Given the description of an element on the screen output the (x, y) to click on. 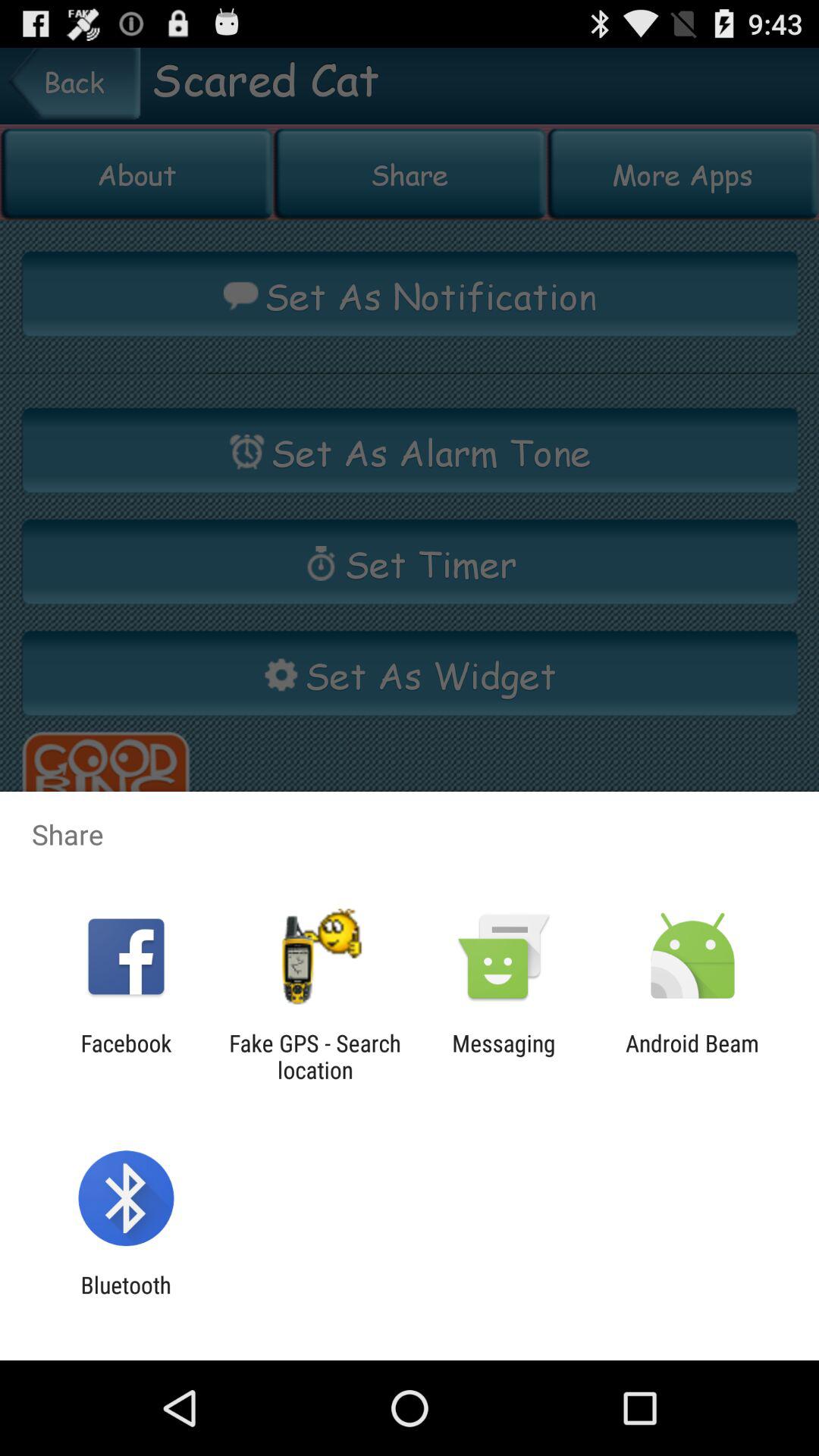
press the app next to the fake gps search app (125, 1056)
